Given the description of an element on the screen output the (x, y) to click on. 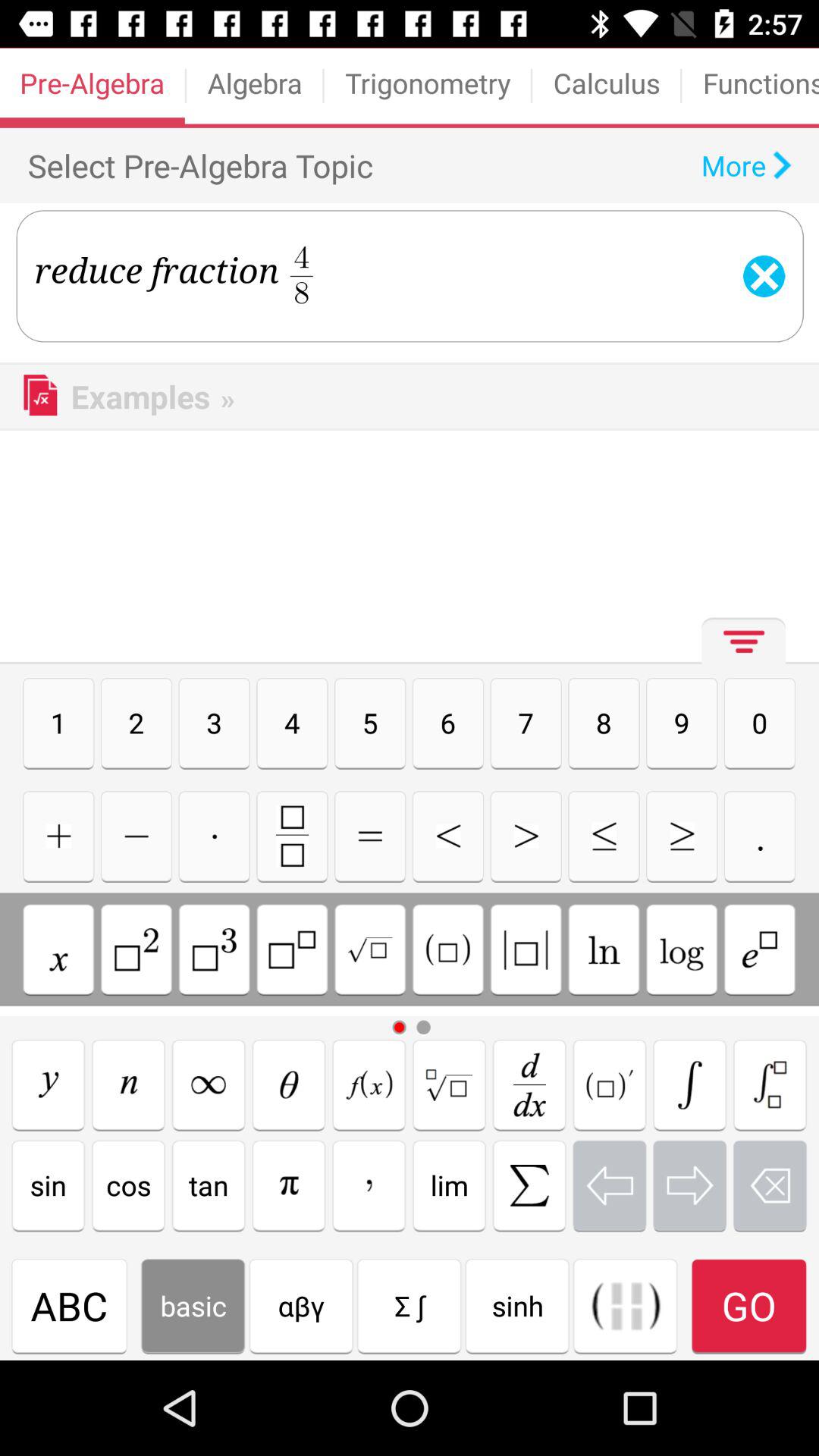
multiply (214, 835)
